Given the description of an element on the screen output the (x, y) to click on. 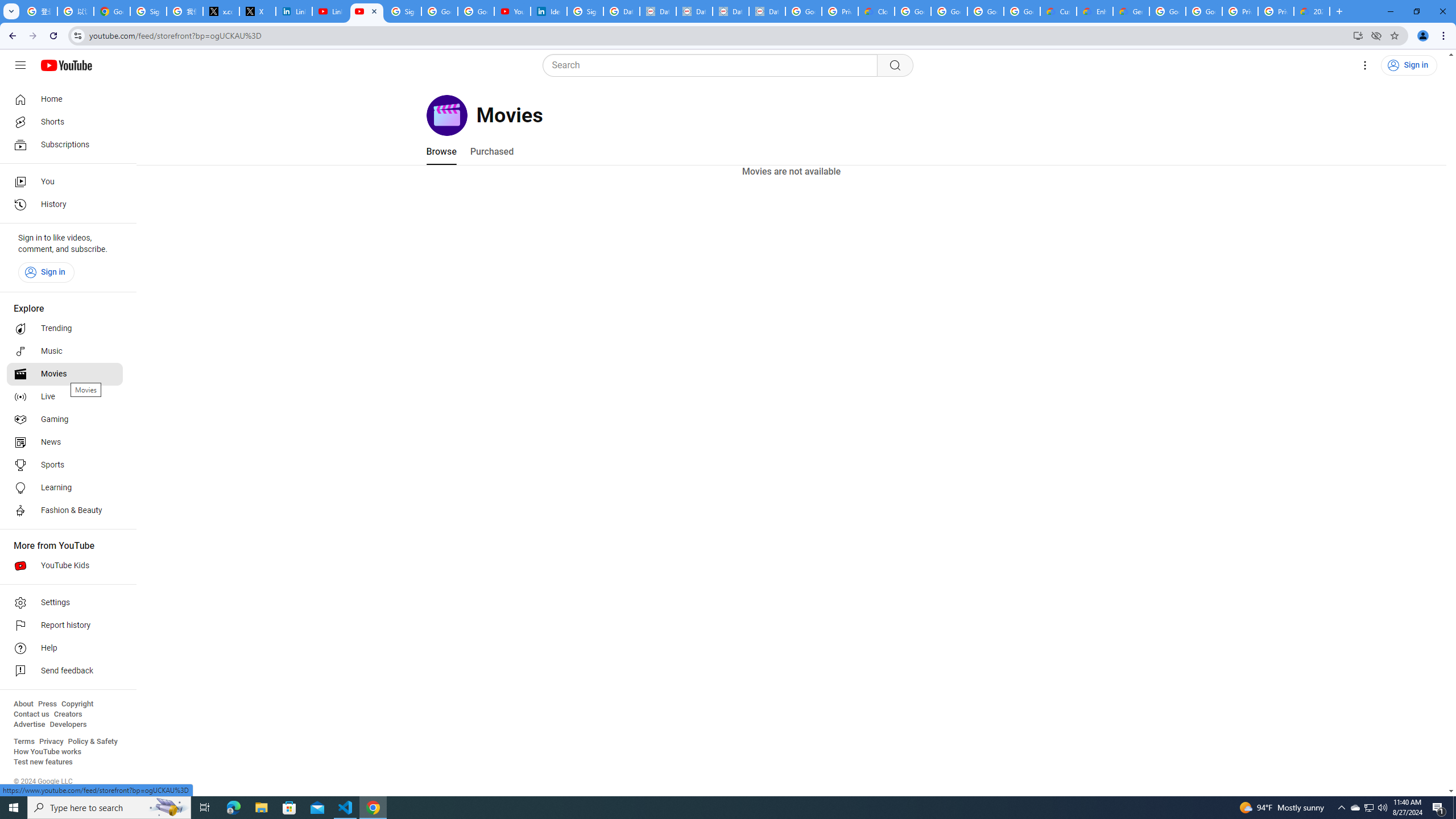
Music (64, 350)
Test new features (42, 761)
Copyright (77, 703)
Sports (64, 464)
Learning (64, 487)
Gemini for Business and Developers | Google Cloud (1131, 11)
Live (64, 396)
Enhanced Support | Google Cloud (1094, 11)
